Given the description of an element on the screen output the (x, y) to click on. 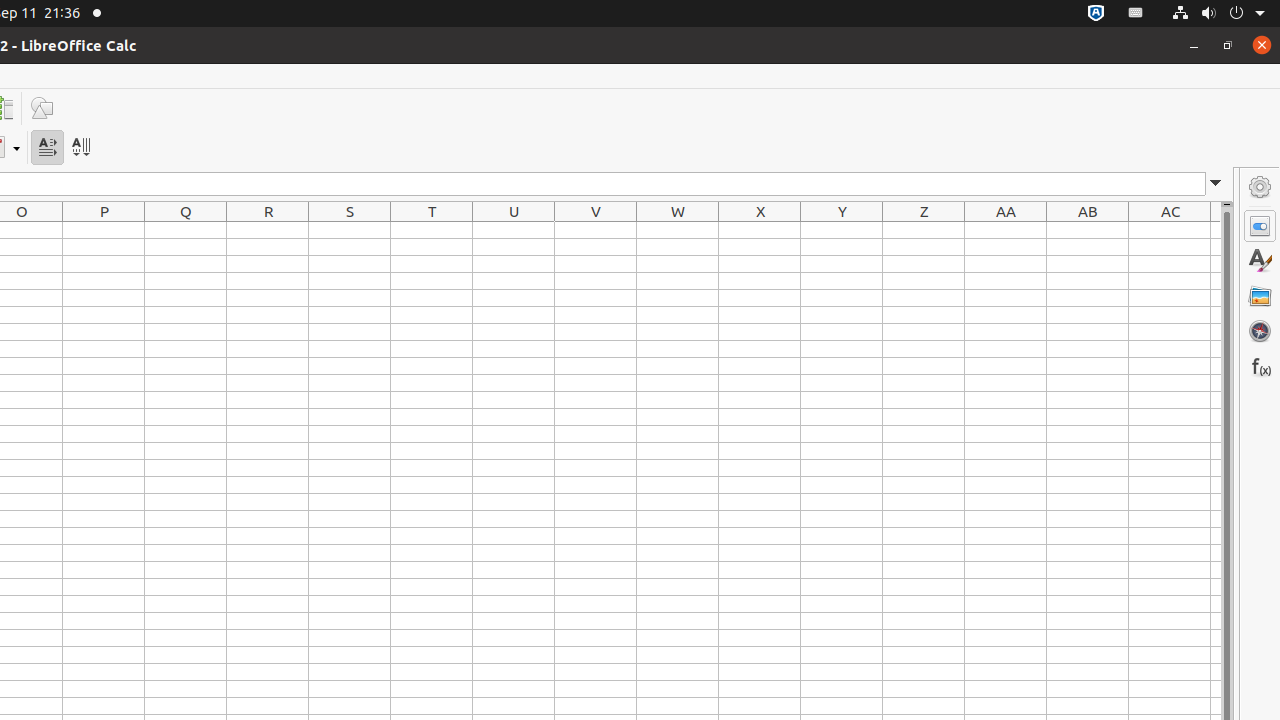
Text direction from left to right Element type: toggle-button (47, 147)
S1 Element type: table-cell (350, 230)
AB1 Element type: table-cell (1088, 230)
Draw Functions Element type: toggle-button (41, 108)
